Given the description of an element on the screen output the (x, y) to click on. 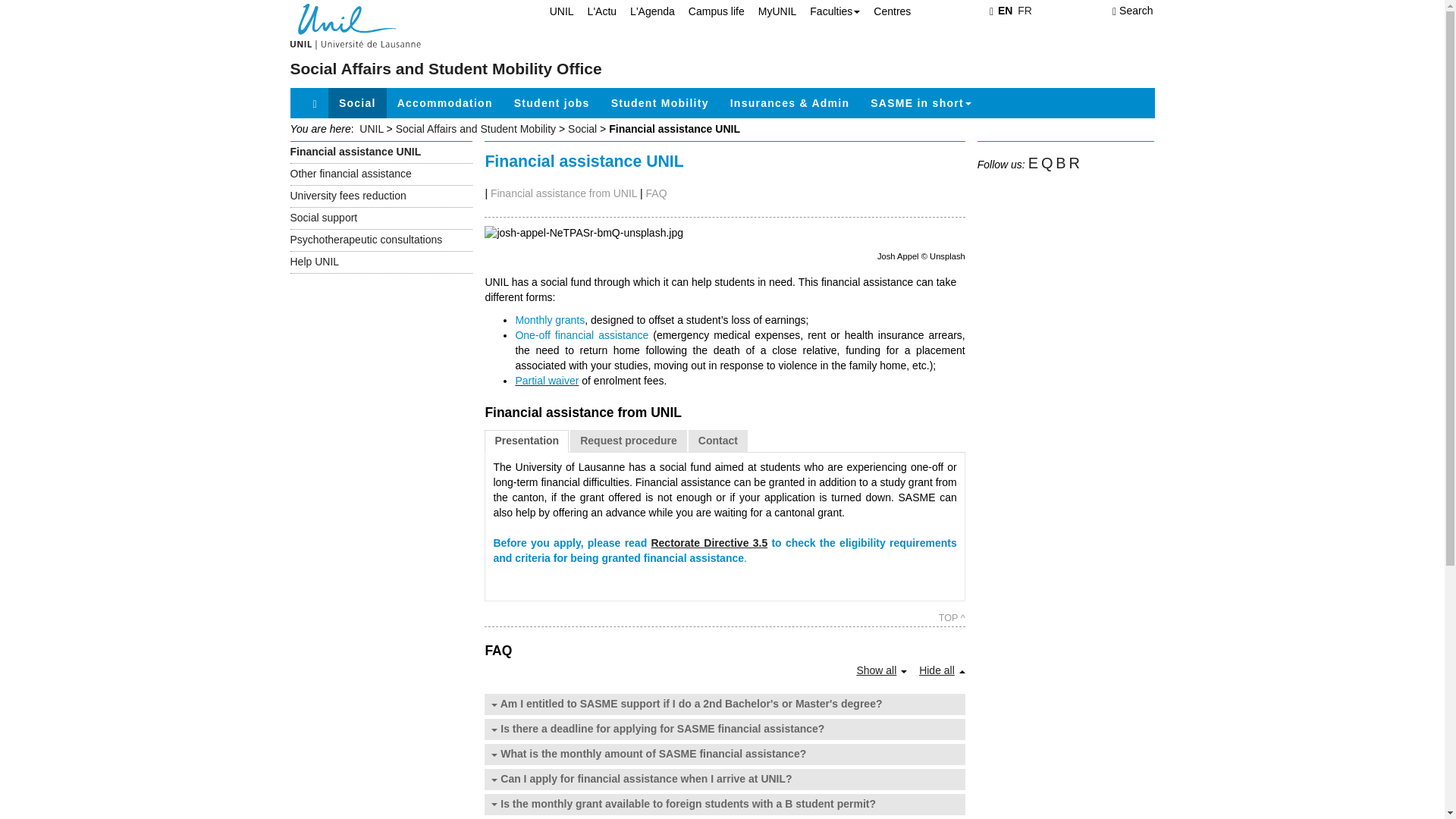
L'Actu (594, 10)
Social (358, 102)
SASME in short (920, 102)
Social Affairs and Student Mobility Office (445, 67)
Faculties (828, 10)
FR (1024, 10)
Student jobs (551, 102)
UNIL (554, 10)
L'Agenda (645, 10)
Accommodation (445, 102)
Campus life (709, 10)
MyUNIL (770, 10)
Student Mobility (659, 102)
Centres (885, 10)
